Given the description of an element on the screen output the (x, y) to click on. 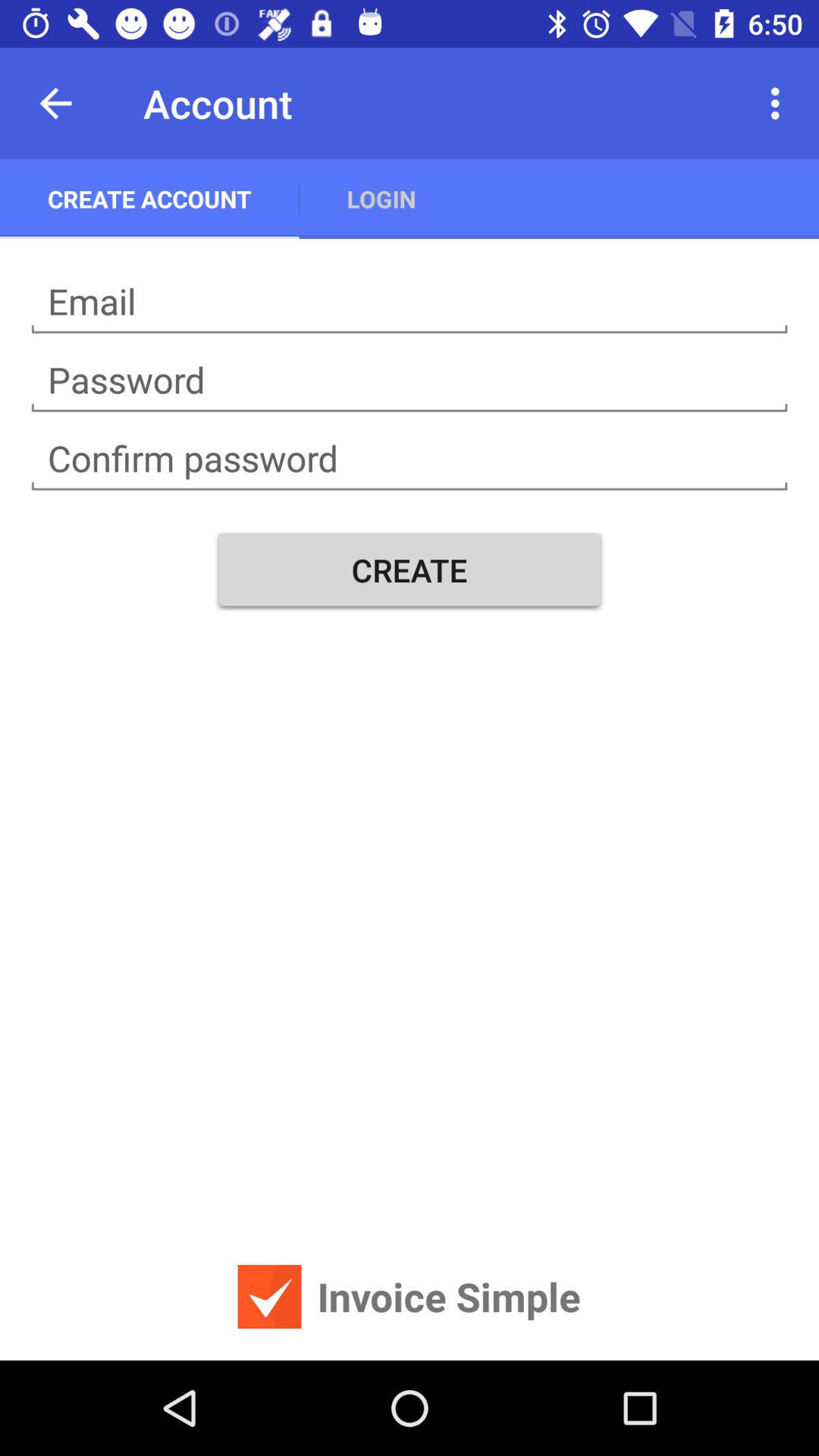
turn off item next to the login icon (149, 198)
